Given the description of an element on the screen output the (x, y) to click on. 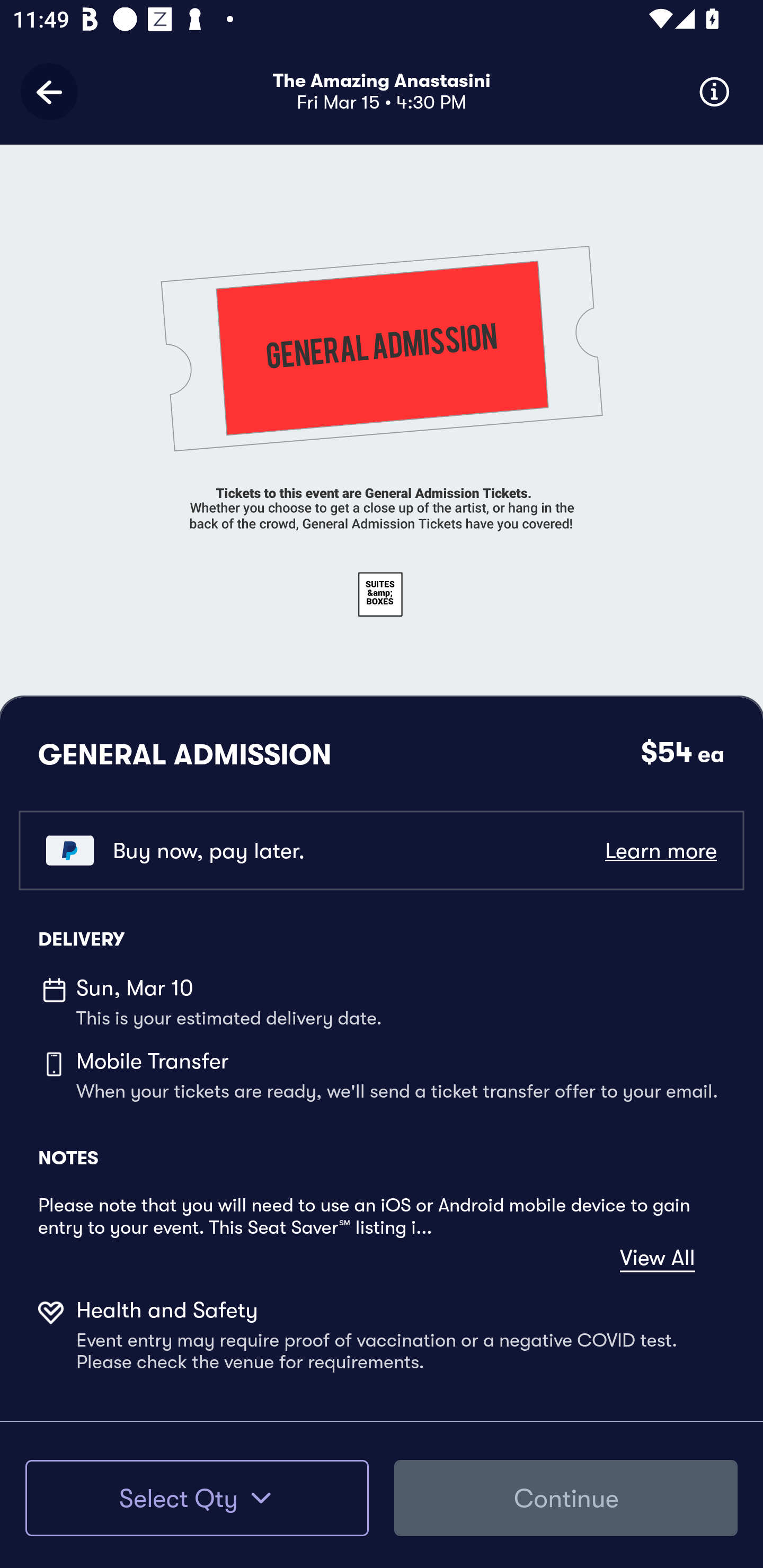
Learn more (660, 850)
View All (657, 1257)
Select Qty (196, 1497)
Continue (565, 1497)
